Given the description of an element on the screen output the (x, y) to click on. 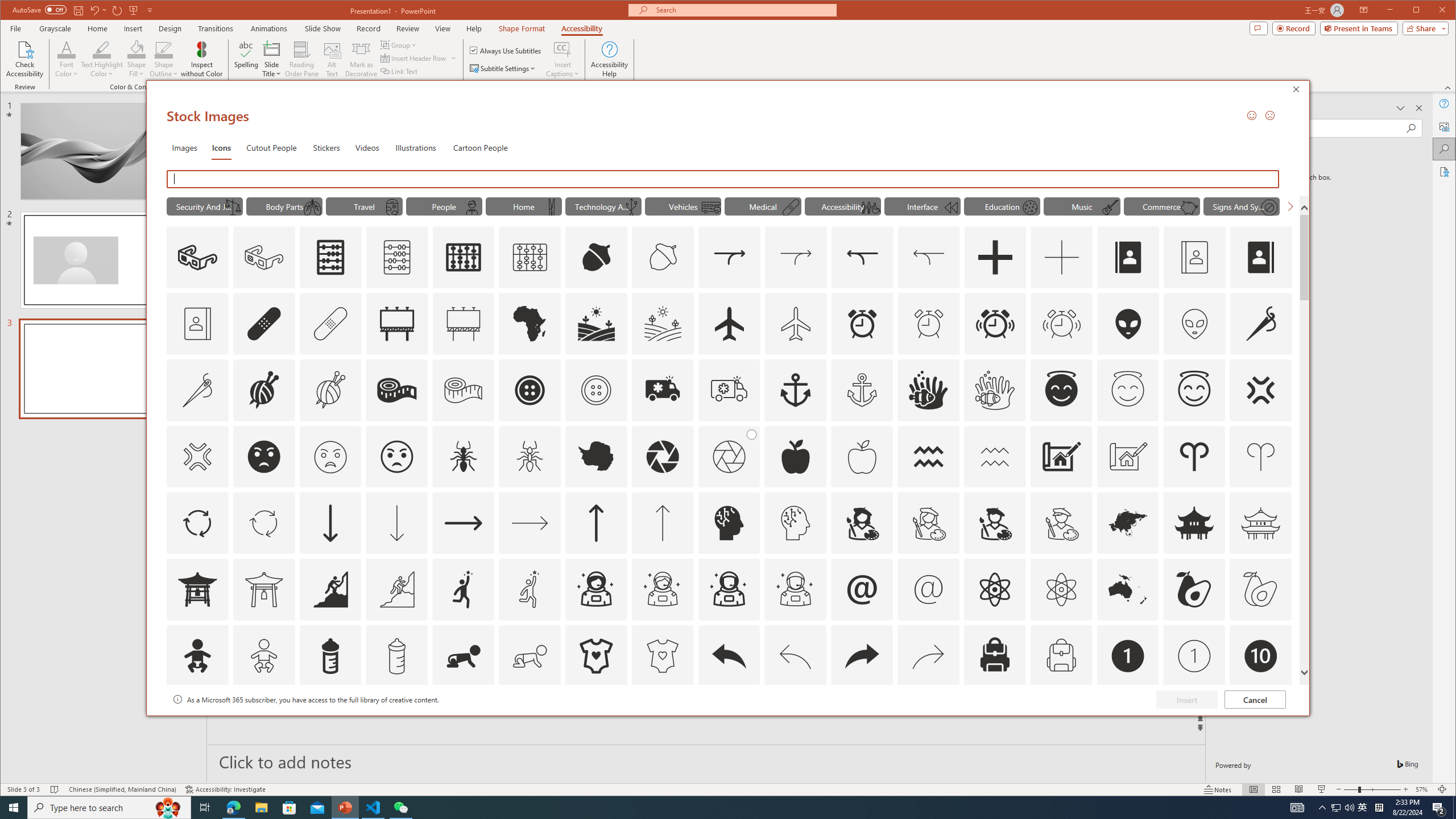
AutomationID: Icons_Add (995, 256)
Type here to search (108, 807)
AutomationID: Icons_BabyCrawling_M (529, 655)
Microsoft Edge - 1 running window (233, 807)
Maximize (1432, 11)
Running applications (707, 807)
AutomationID: Icons_Anchor (795, 389)
Shape Fill (136, 59)
